Given the description of an element on the screen output the (x, y) to click on. 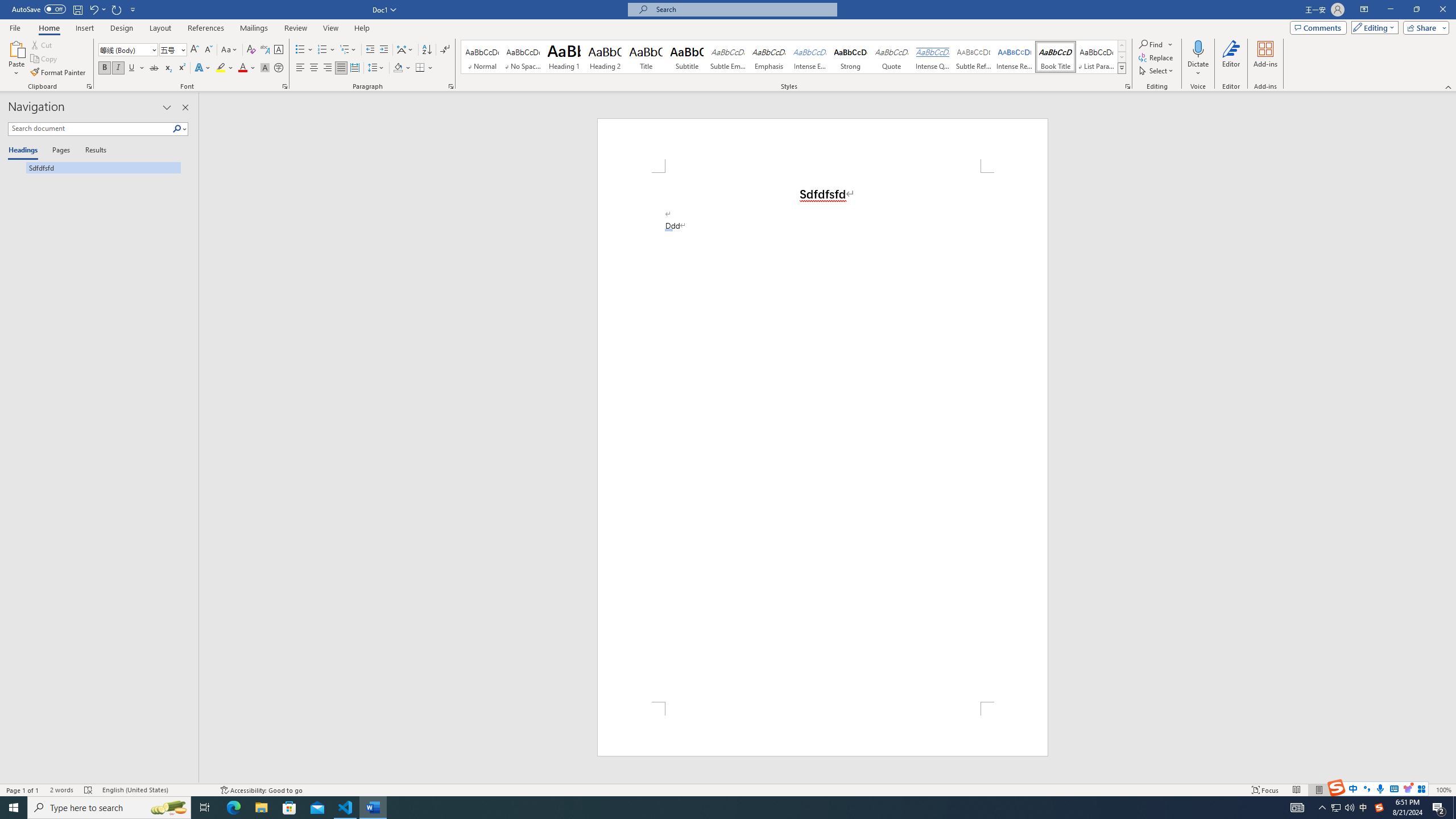
Undo Apply Quick Style (96, 9)
Styles (1121, 67)
File Tab (15, 27)
Borders (419, 67)
Find (1155, 44)
Heading 2 (605, 56)
Justify (340, 67)
Focus  (1265, 790)
Center (313, 67)
Paste (16, 58)
Task Pane Options (167, 107)
Repeat Style (117, 9)
Title (646, 56)
AutoSave (38, 9)
